Given the description of an element on the screen output the (x, y) to click on. 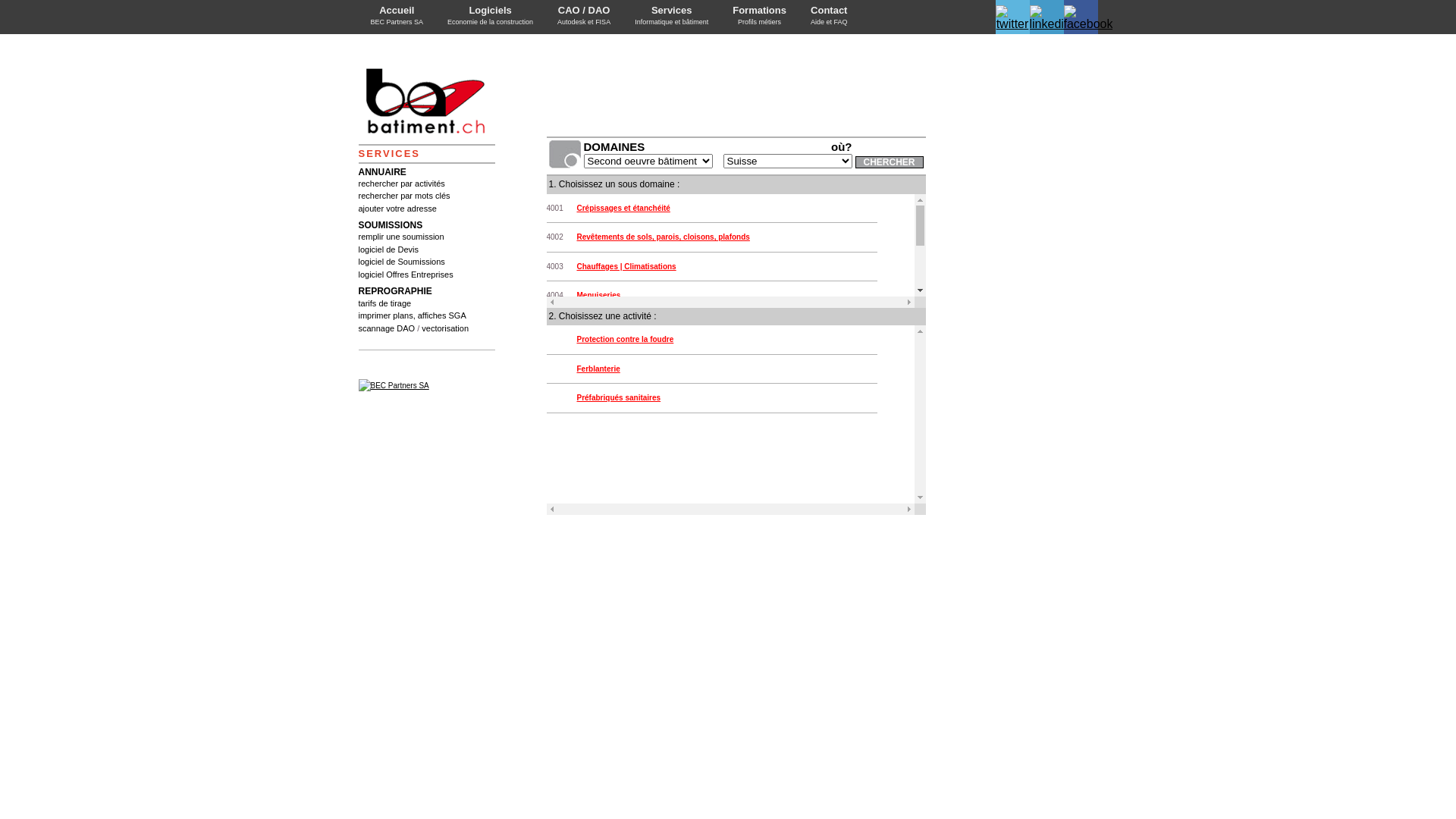
logiciel de Soumissions Element type: text (400, 261)
ajouter votre adresse Element type: text (396, 208)
Formations Element type: text (759, 10)
ANNUAIRE Element type: text (381, 171)
CAO / DAO Element type: text (583, 10)
remplir une soumission Element type: text (400, 236)
CHERCHER Element type: text (889, 162)
linkedin Element type: hover (1049, 23)
SOUMISSIONS Element type: text (389, 224)
logiciel de Devis Element type: text (387, 249)
REPROGRAPHIE Element type: text (394, 290)
imprimer plans, affiches SGA Element type: text (411, 315)
Contact Element type: text (828, 10)
Logiciels Element type: text (490, 10)
vectorisation Element type: text (444, 327)
Protection contre la foudre Element type: text (624, 339)
Chauffages | Climatisations Element type: text (625, 266)
Accueil Element type: text (396, 10)
Services Element type: text (671, 10)
Ferblanteries | Sanitaires Element type: text (621, 324)
Menuiseries Element type: text (598, 295)
logiciel Offres Entreprises Element type: text (404, 274)
facebook Element type: hover (1087, 23)
twitter Element type: hover (1011, 23)
tarifs de tirage Element type: text (384, 302)
scannage DAO Element type: text (385, 327)
Ferblanterie Element type: text (597, 368)
